Given the description of an element on the screen output the (x, y) to click on. 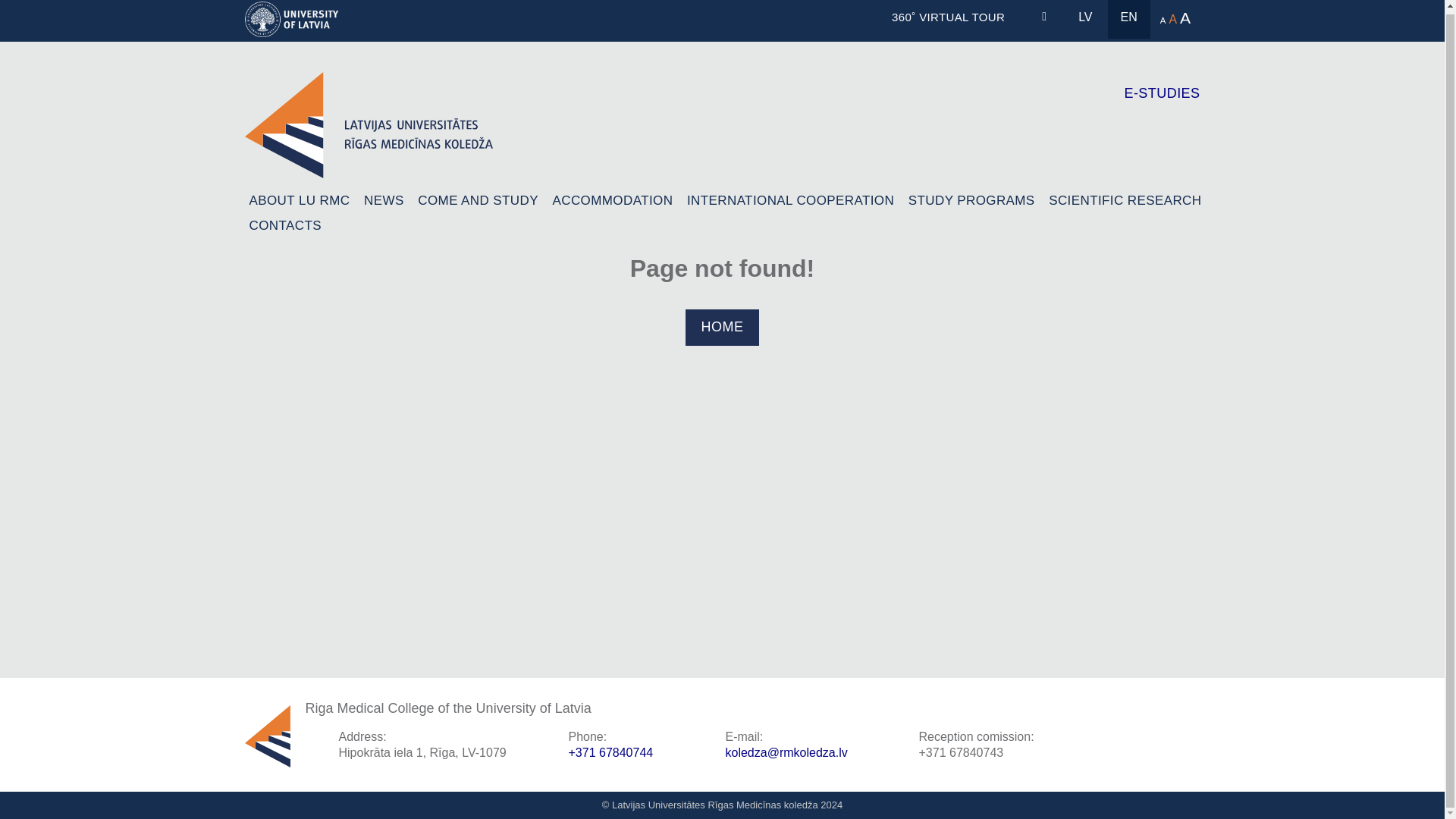
ACCOMMODATION (613, 200)
INTERNATIONAL COOPERATION (790, 200)
STUDY PROGRAMS (971, 200)
CONTACTS (284, 225)
HOME (722, 326)
EN (1129, 19)
NEWS (384, 200)
ABOUT LU RMC (298, 200)
LV (1085, 19)
SCIENTIFIC RESEARCH (1124, 200)
